Given the description of an element on the screen output the (x, y) to click on. 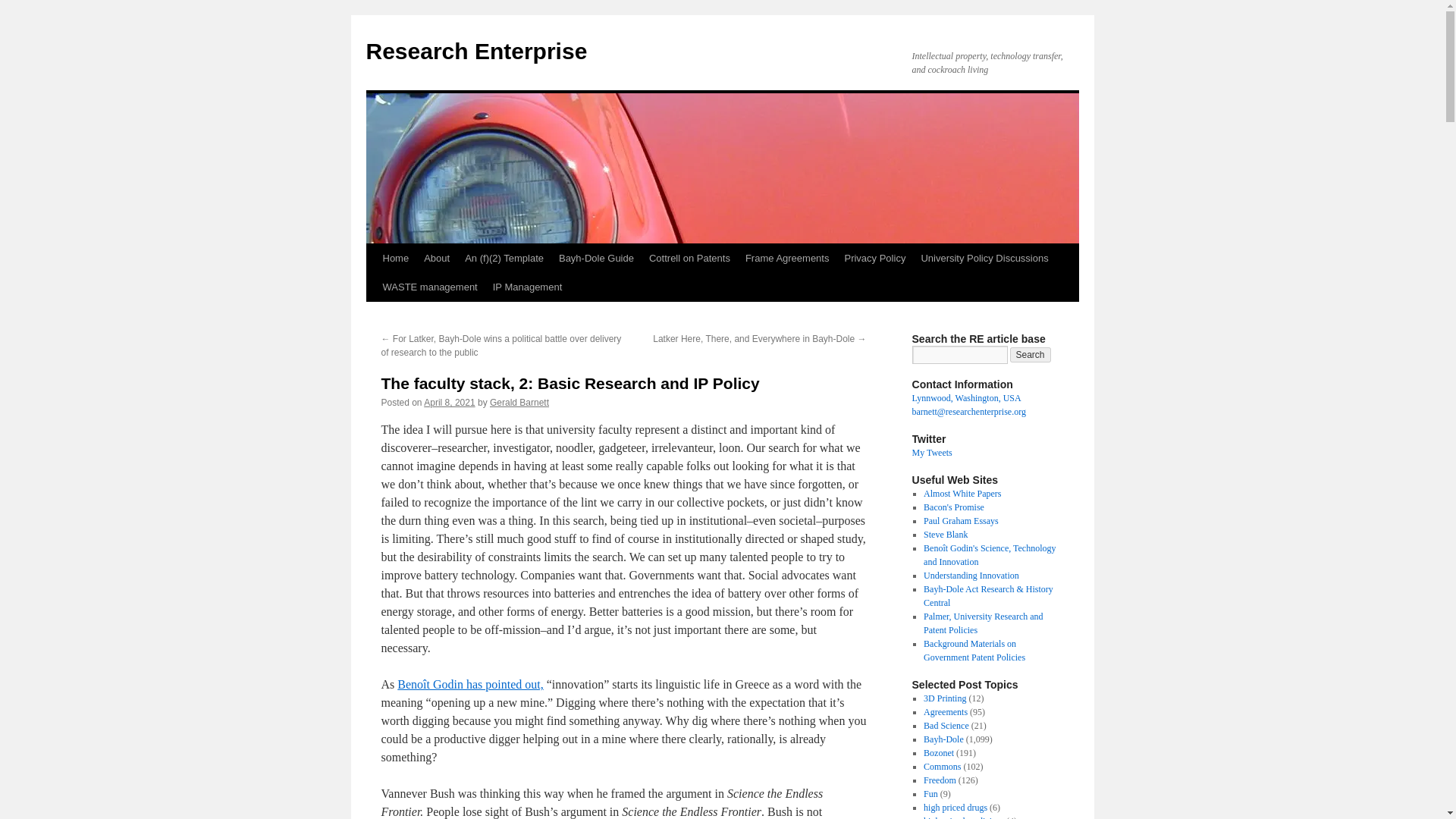
Cottrell on Patents (690, 258)
Paul Graham Essays (960, 520)
Search (1030, 354)
April 8, 2021 (448, 402)
Search (1030, 354)
Research Enterprise (475, 50)
Bacon's Promise (953, 507)
My Tweets (931, 452)
Lynnwood, Washington, USA (965, 398)
IP Management (527, 287)
Home (395, 258)
WASTE management (429, 287)
University Policy Discussions (983, 258)
Gerald Barnett (518, 402)
About (436, 258)
